Given the description of an element on the screen output the (x, y) to click on. 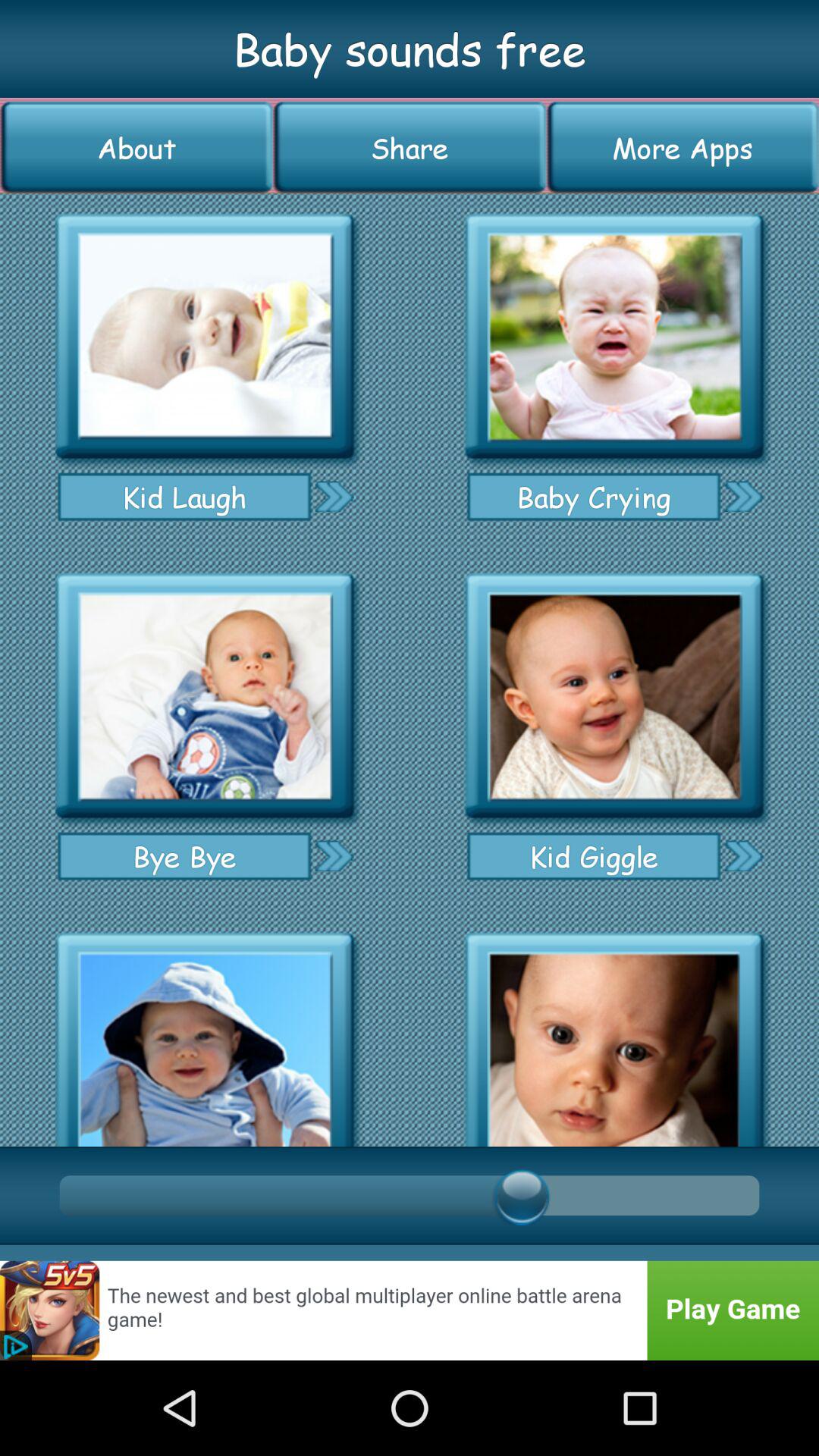
open sound file (613, 1034)
